Given the description of an element on the screen output the (x, y) to click on. 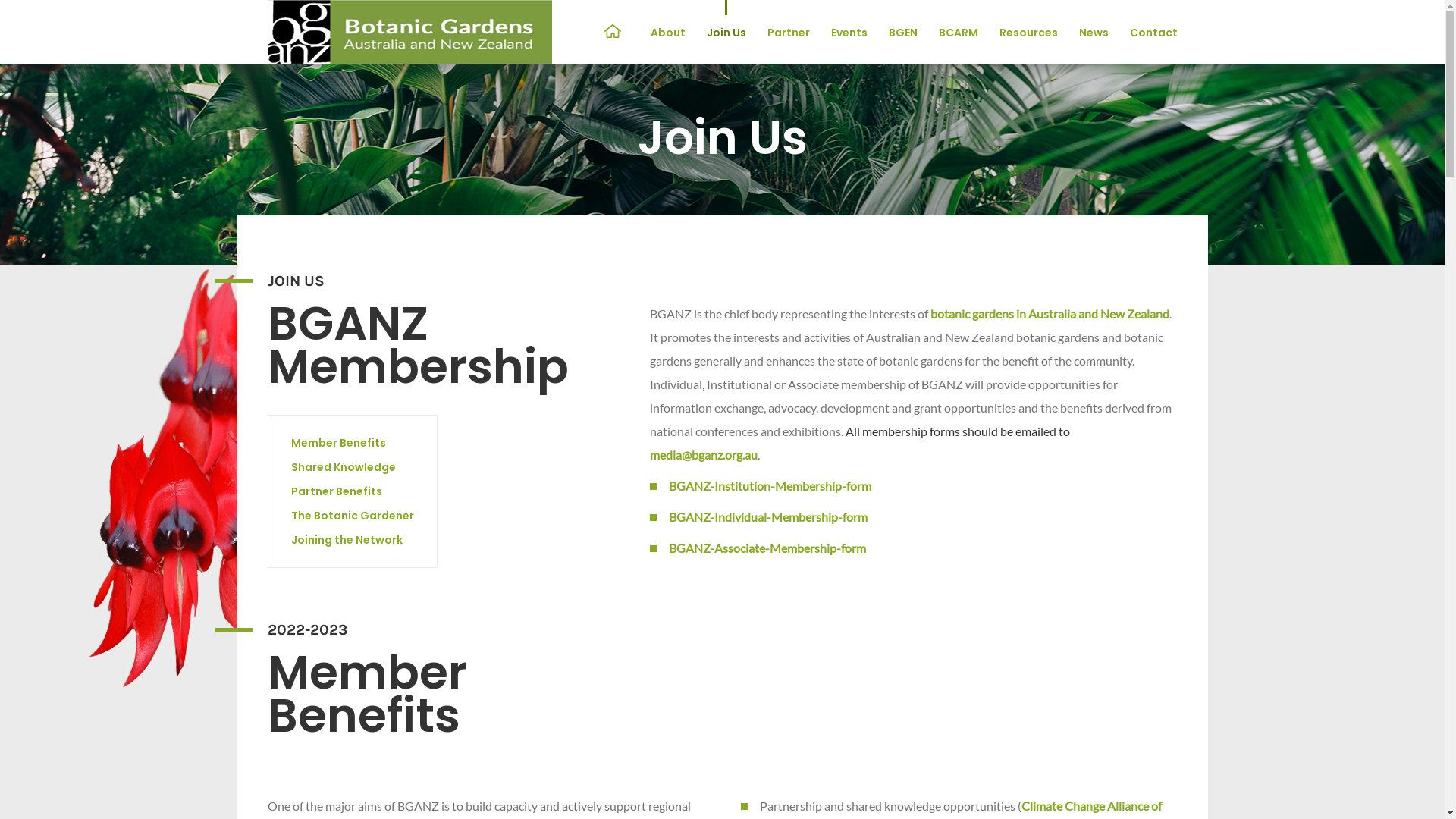
Home Element type: text (612, 32)
Resources Element type: text (1028, 32)
BCARM Element type: text (958, 32)
Member Benefits Element type: text (338, 442)
Join Us Element type: text (726, 32)
BGANZ Element type: hover (408, 31)
BGANZ-Institution-Membership-form Element type: text (769, 485)
News Element type: text (1092, 32)
botanic gardens in Australia and New Zealand Element type: text (1048, 313)
Partner Element type: text (788, 32)
Contact Element type: text (1153, 32)
BGANZ-Associate-Membership-form Element type: text (767, 547)
Joining the Network Element type: text (346, 539)
media@bganz.org.au Element type: text (702, 454)
The Botanic Gardener Element type: text (352, 515)
BGEN Element type: text (902, 32)
About Element type: text (667, 32)
BGANZ-Individual-Membership-form Element type: text (767, 516)
Shared Knowledge Element type: text (343, 466)
Events Element type: text (849, 32)
Partner Benefits Element type: text (336, 490)
